Given the description of an element on the screen output the (x, y) to click on. 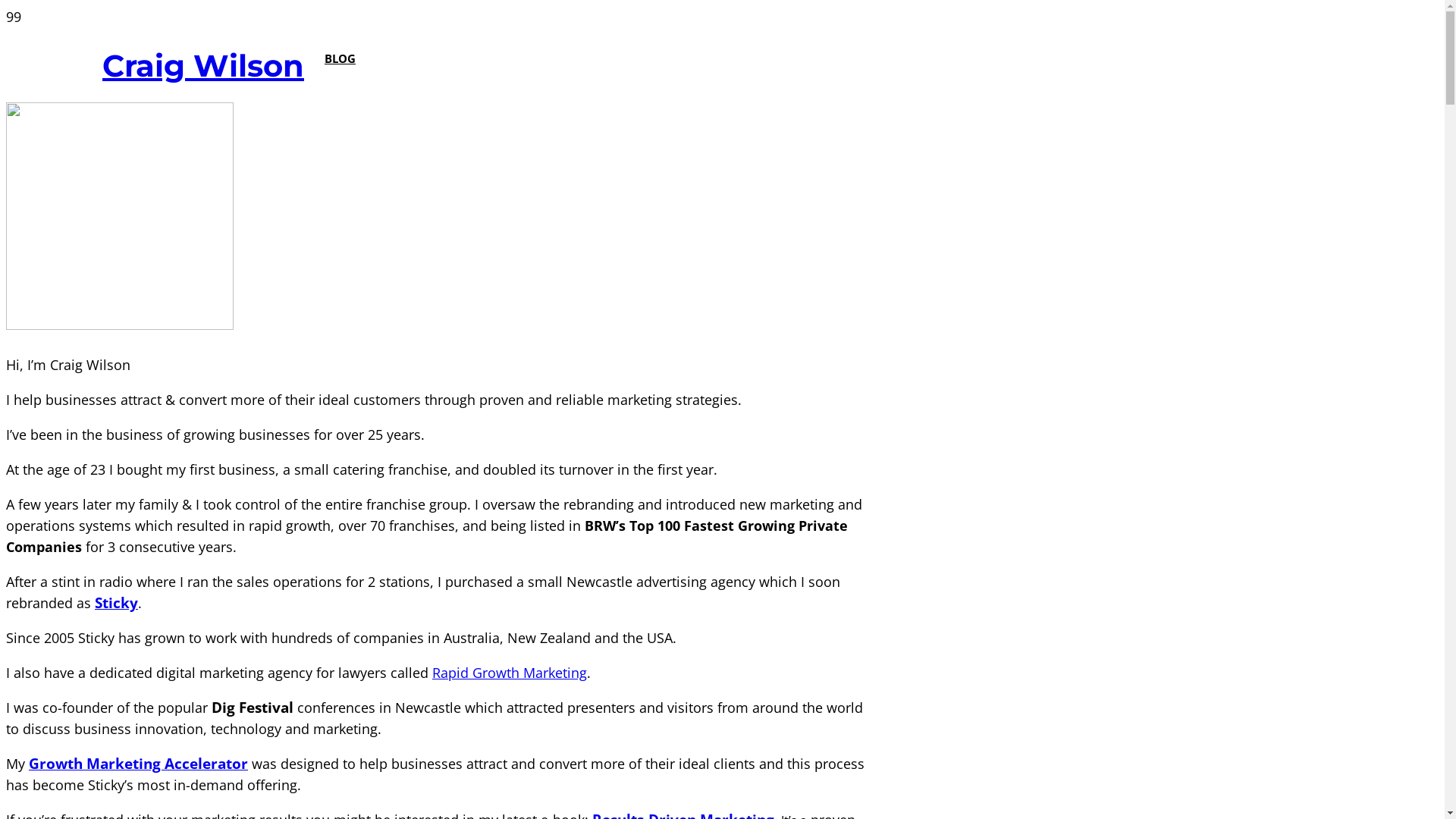
Growth Marketing Accelerator Element type: text (137, 763)
Sticky Element type: text (116, 602)
BLOG Element type: text (340, 64)
Craig Wilson Element type: text (203, 65)
Rapid Growth Marketing Element type: text (509, 672)
